Given the description of an element on the screen output the (x, y) to click on. 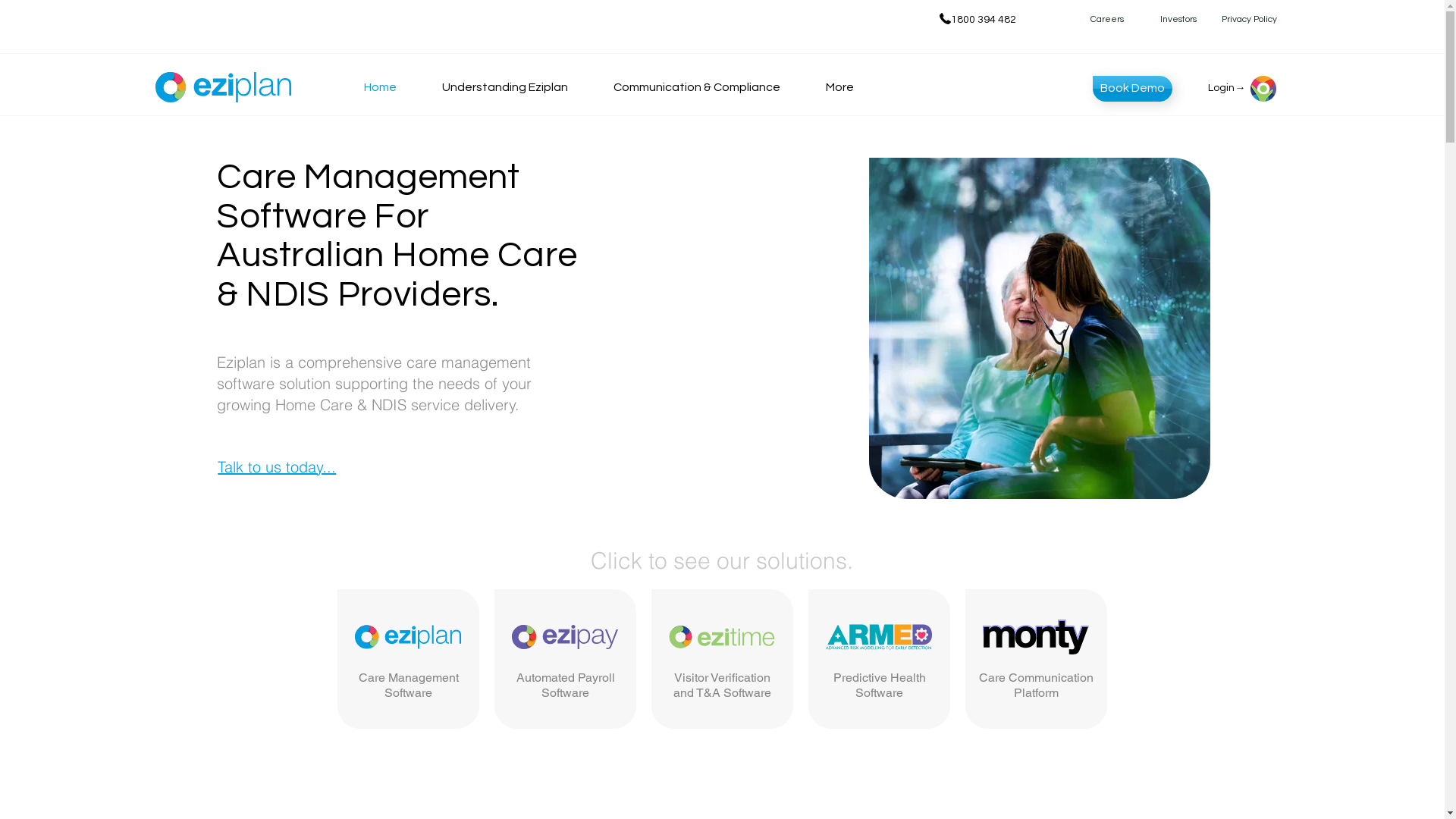
Visitor Verification
and T&A Software Element type: text (722, 685)
Careers Element type: text (1107, 19)
Care Management Software Element type: text (407, 685)
Communication & Compliance Element type: text (708, 87)
Privacy Policy Element type: text (1248, 19)
Home Element type: text (391, 87)
Talk to us today... Element type: text (276, 466)
Automated Payroll Software Element type: text (564, 685)
Investors Element type: text (1178, 19)
Care Communication Platform Element type: text (1036, 685)
Understanding Eziplan Element type: text (516, 87)
Book Demo Element type: text (1132, 88)
1800 394 482 Element type: text (983, 19)
Predictive Health Software Element type: text (878, 685)
